Given the description of an element on the screen output the (x, y) to click on. 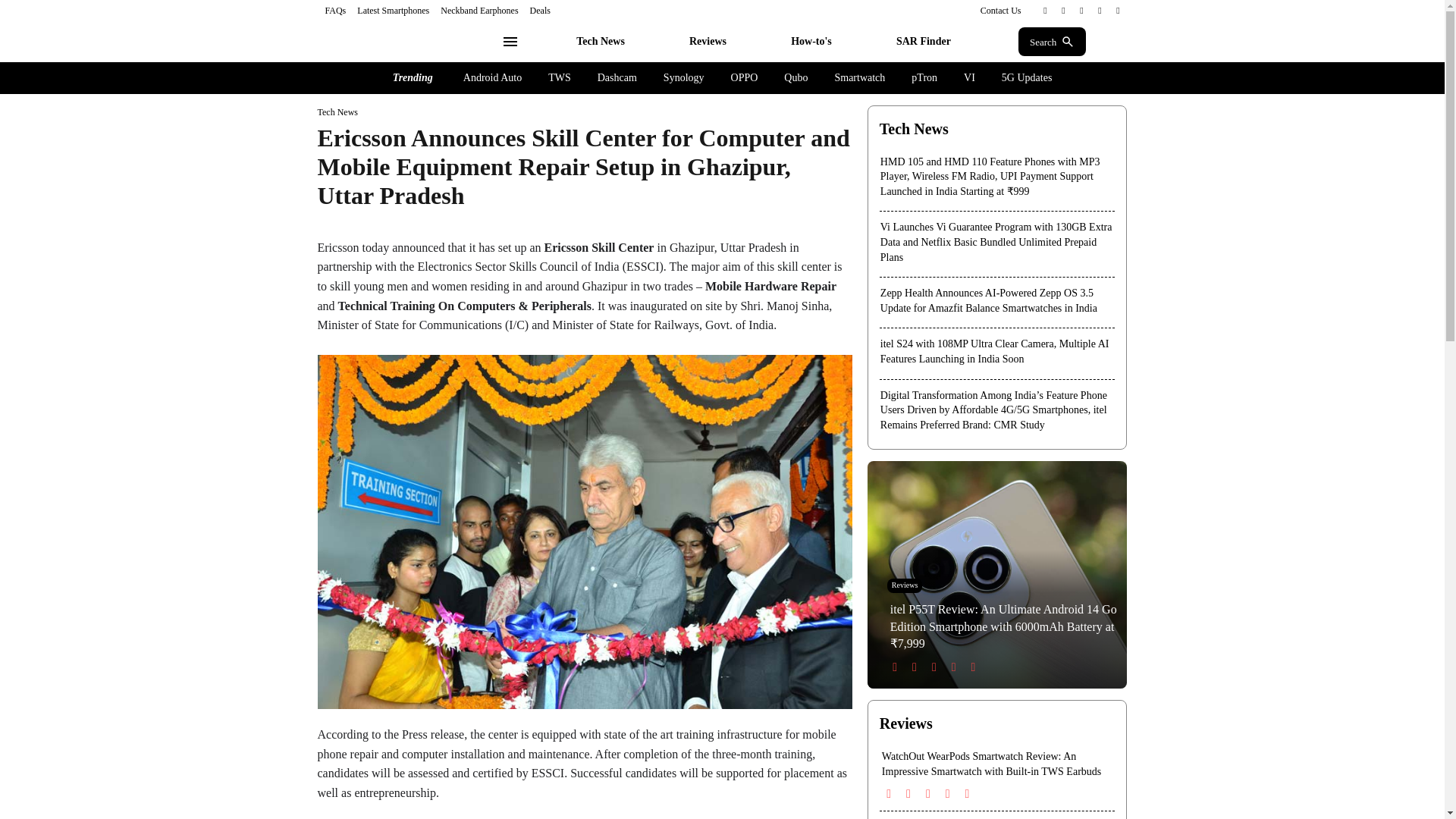
Latest Smartphones (392, 9)
Contact Us (1000, 9)
Neckband Earphones (479, 9)
Facebook (1044, 10)
Twitter (1080, 10)
WhatsApp (1099, 10)
Instagram (1062, 10)
Youtube (1117, 10)
Deals (539, 9)
Search (1051, 41)
View all posts in Tech News (336, 112)
FAQs (335, 9)
